Given the description of an element on the screen output the (x, y) to click on. 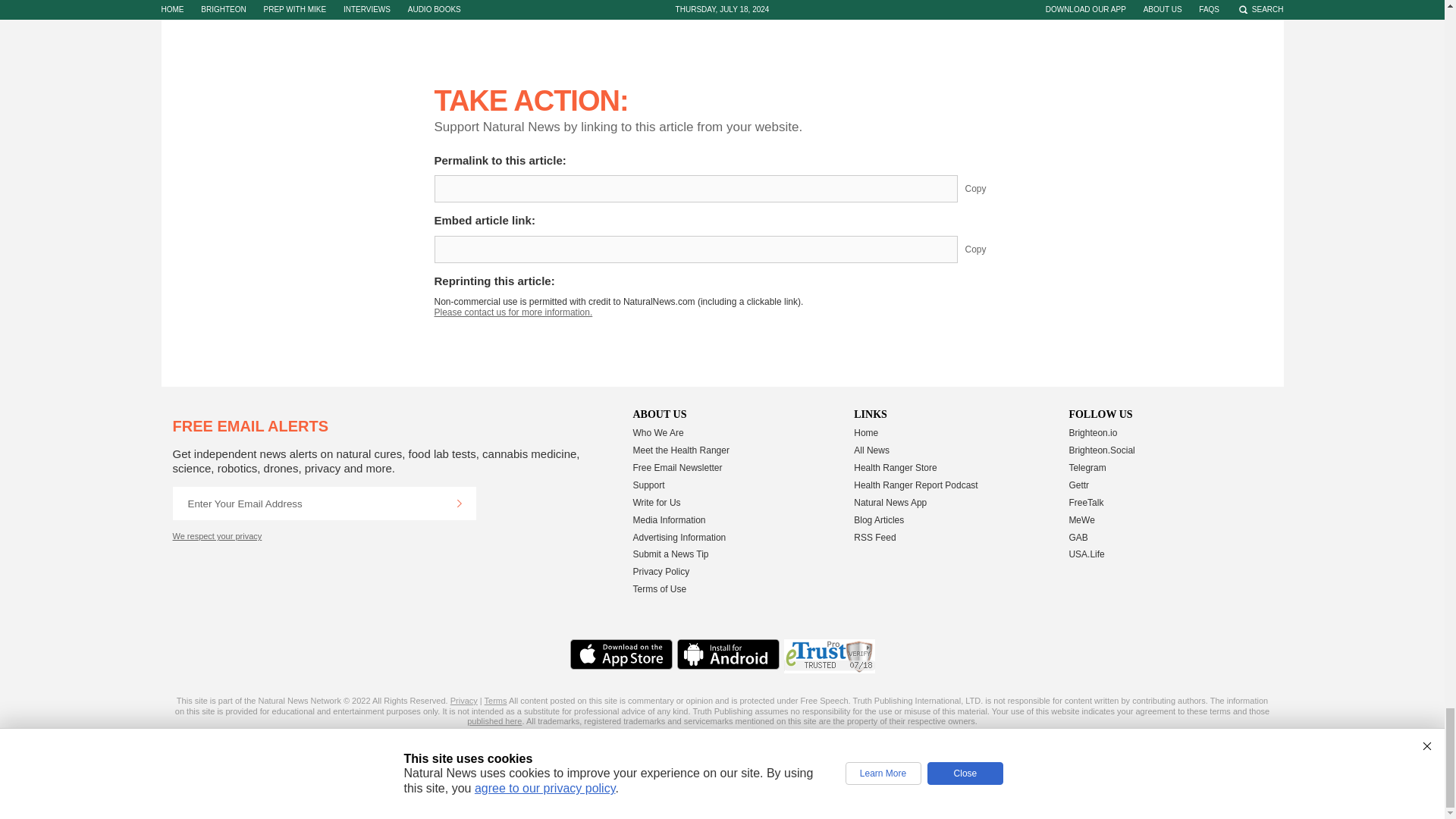
Copy Embed Link (986, 248)
Copy Permalink (986, 188)
eTrust Pro Certified (829, 656)
Continue (459, 503)
